Given the description of an element on the screen output the (x, y) to click on. 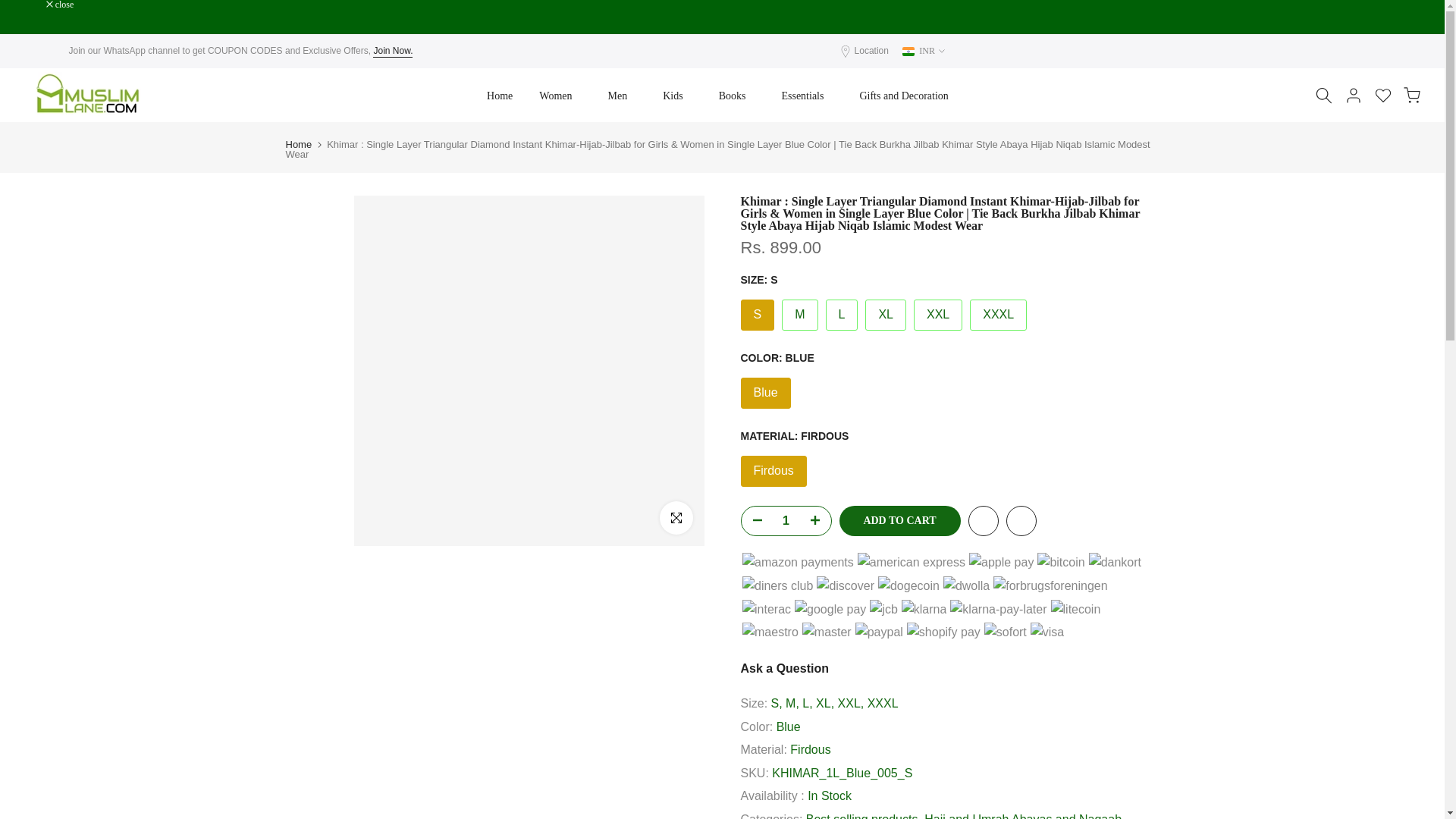
Location (871, 50)
Blue (764, 392)
Join Now. (392, 51)
Books (736, 95)
Kids (676, 95)
1 (786, 520)
close (60, 4)
Essentials (806, 95)
Skip to content (10, 7)
Men (621, 95)
